Given the description of an element on the screen output the (x, y) to click on. 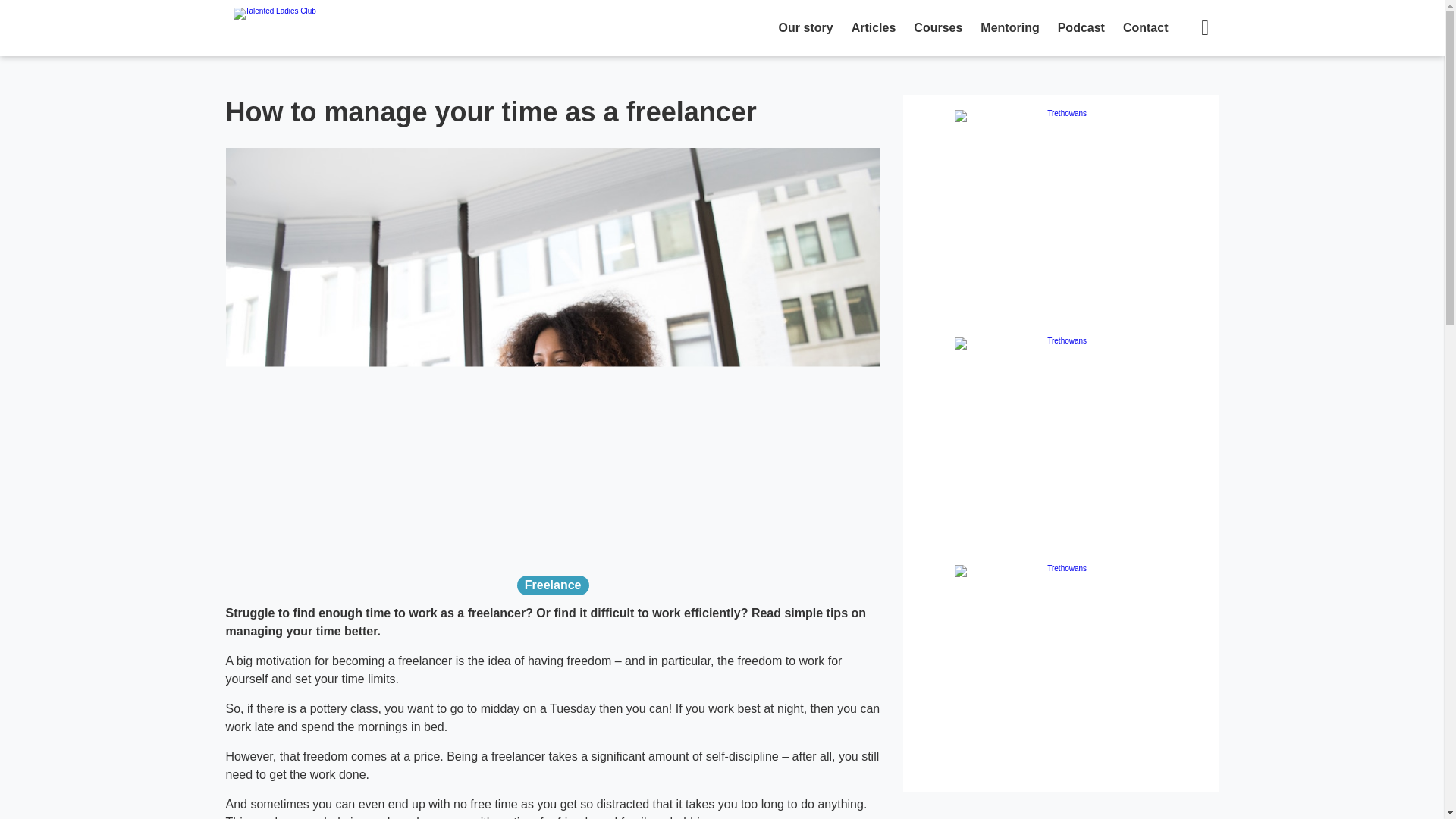
Courses (937, 28)
Our story (806, 28)
Podcast (1080, 28)
Contact (1145, 28)
Articles (874, 28)
Mentoring (1009, 28)
